Given the description of an element on the screen output the (x, y) to click on. 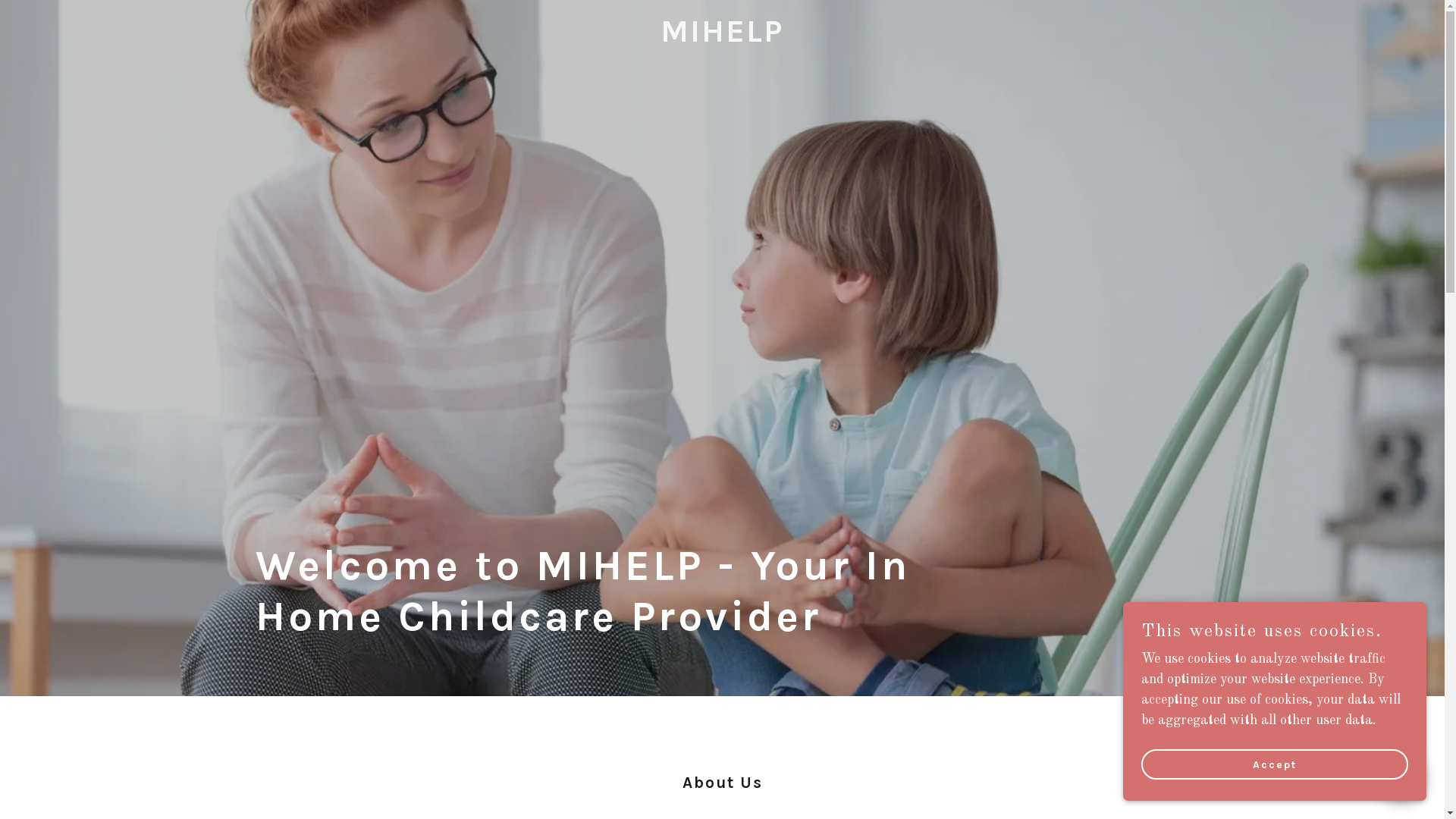
Accept Element type: text (1274, 764)
MIHELP Element type: text (721, 37)
